Given the description of an element on the screen output the (x, y) to click on. 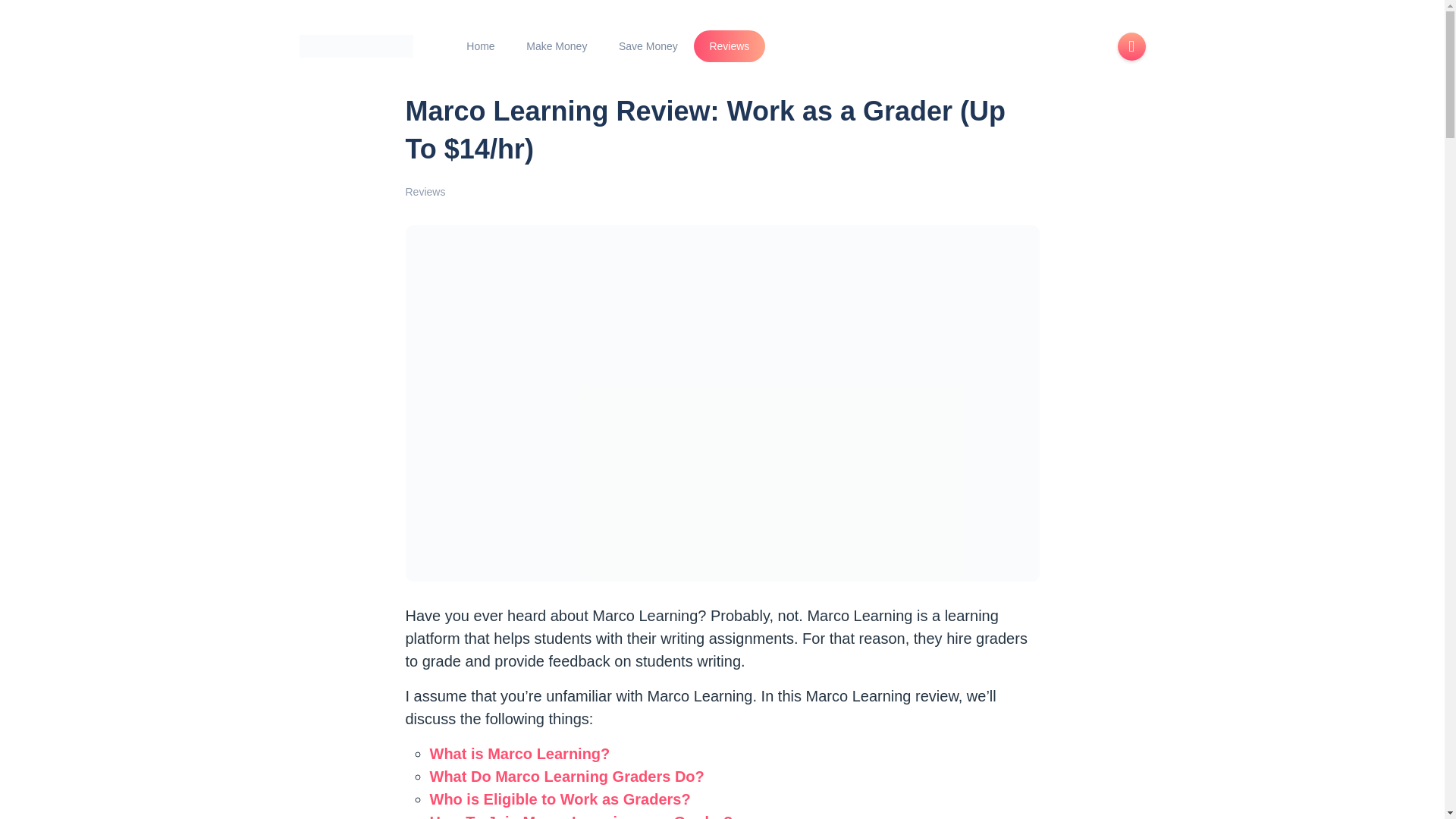
How To Join Marco Learning as a Grader? (580, 816)
What Do Marco Learning Graders Do? (566, 776)
What is Marco Learning? (519, 753)
Make Money (556, 46)
Who is Eligible to Work as Graders? (559, 799)
Reviews (424, 191)
Home (480, 46)
Reviews (729, 46)
Save Money (647, 46)
